Given the description of an element on the screen output the (x, y) to click on. 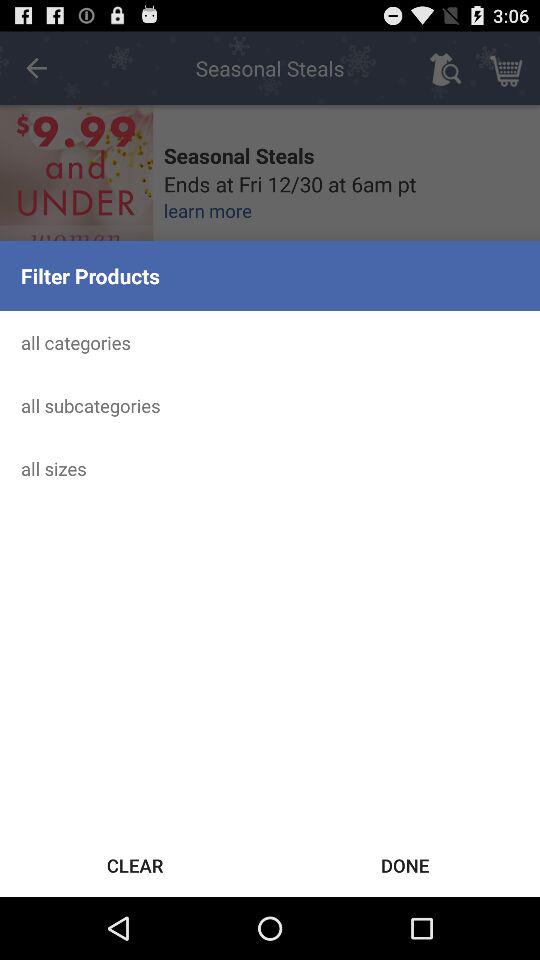
turn on the icon to the left of the done item (135, 864)
